Given the description of an element on the screen output the (x, y) to click on. 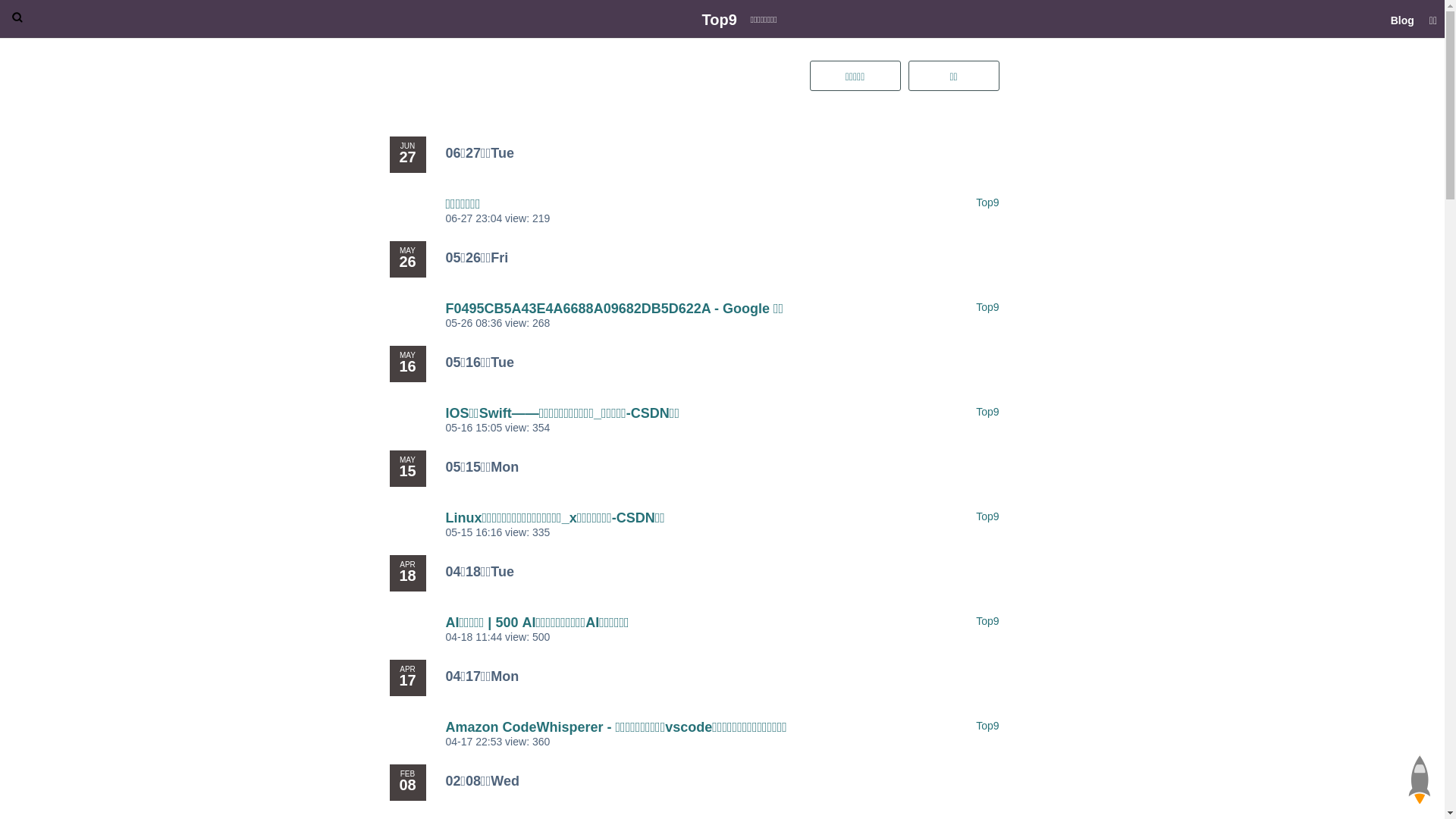
Top9 Element type: text (986, 307)
Blog Element type: text (1402, 18)
Top9 Element type: text (986, 516)
Top9 Element type: text (986, 202)
Top9 Element type: text (719, 19)
Top9 Element type: text (986, 621)
Top9 Element type: text (986, 411)
Top9 Element type: text (986, 725)
